Given the description of an element on the screen output the (x, y) to click on. 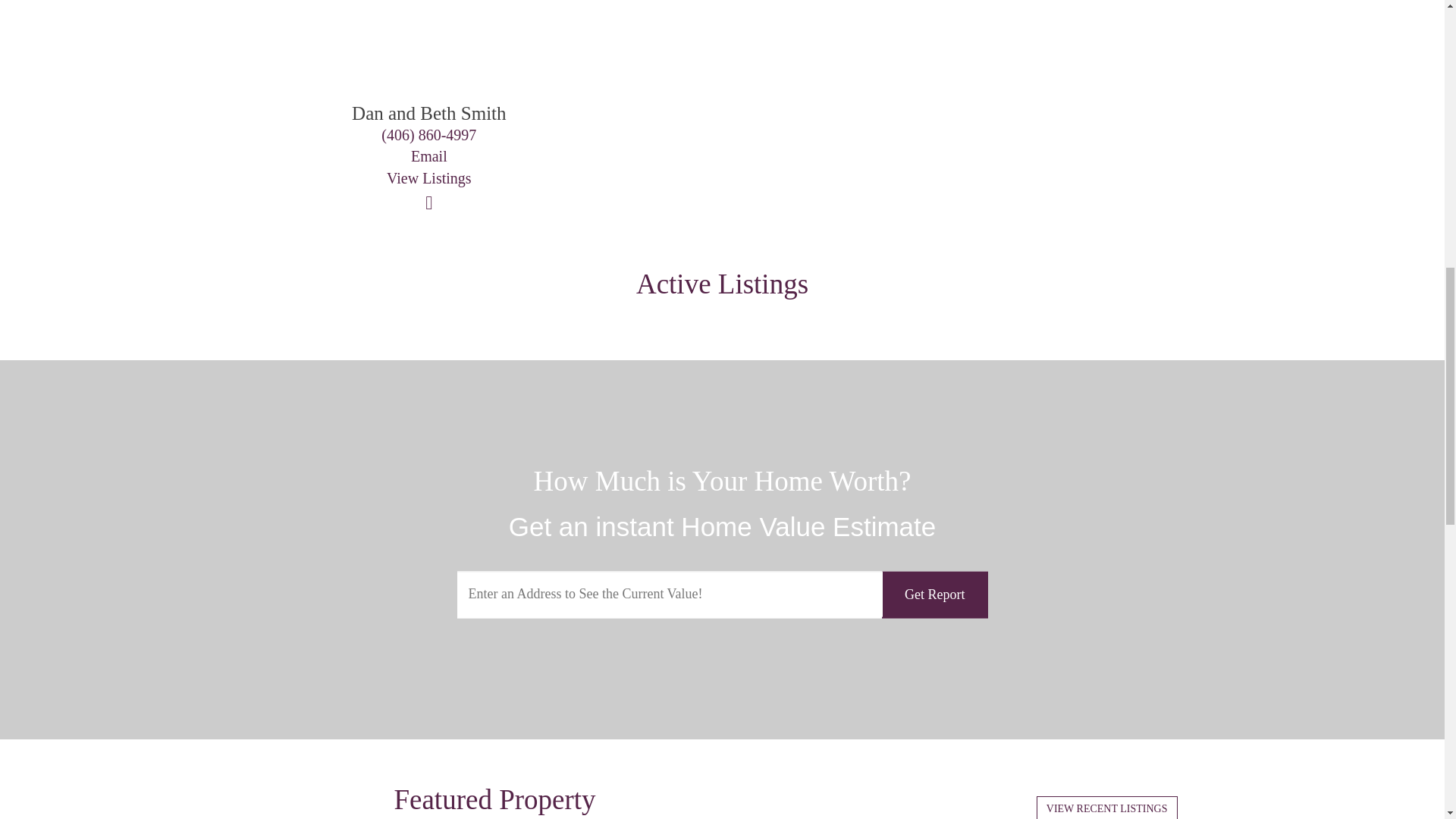
Get Report (934, 595)
Email (428, 156)
View Listings (429, 177)
VIEW RECENT LISTINGS (1106, 807)
